Given the description of an element on the screen output the (x, y) to click on. 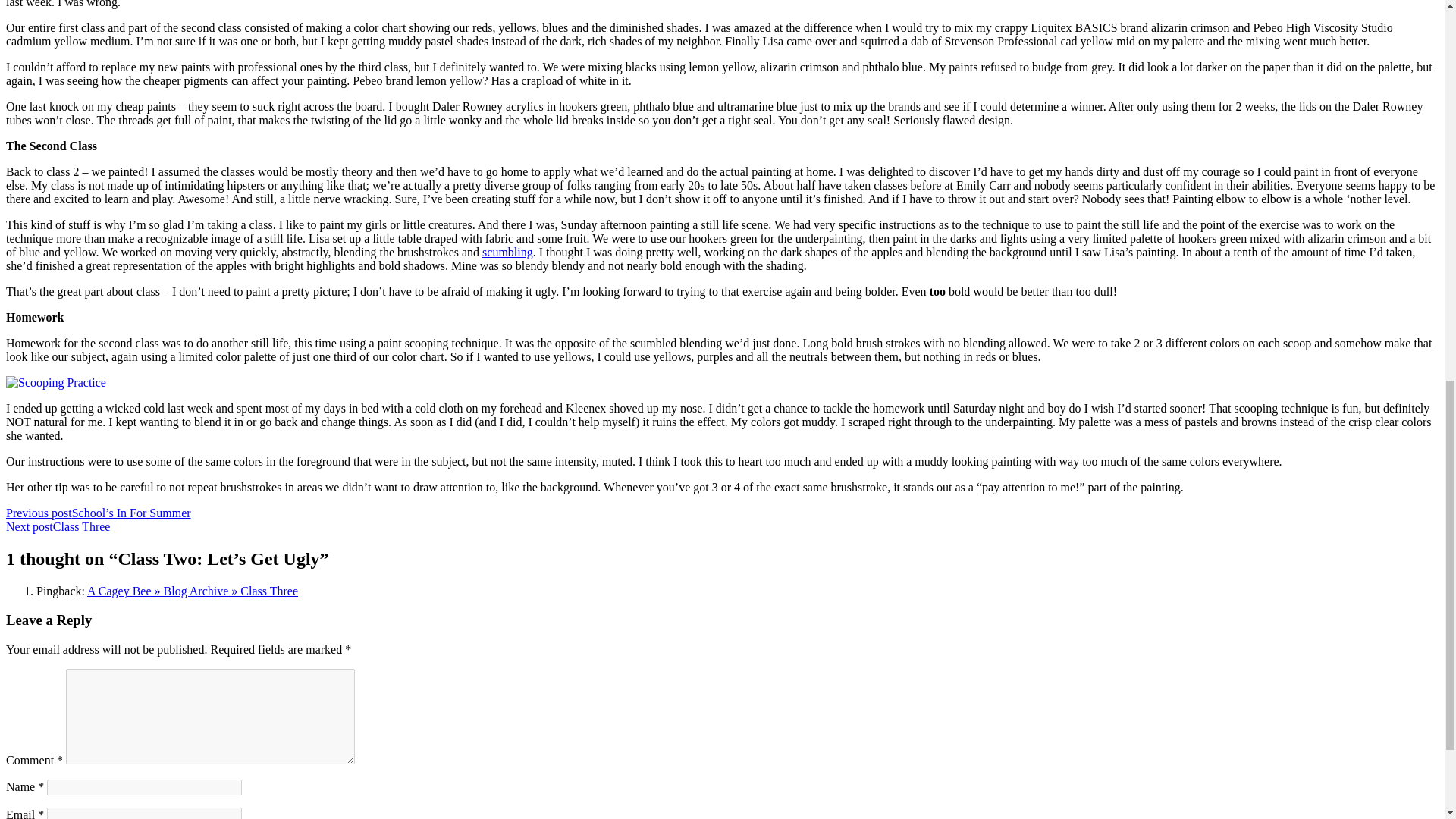
scumbling (506, 251)
Next postClass Three (57, 526)
Scooping Practice by acageybee, on Flickr (55, 382)
scumbling (506, 251)
